Given the description of an element on the screen output the (x, y) to click on. 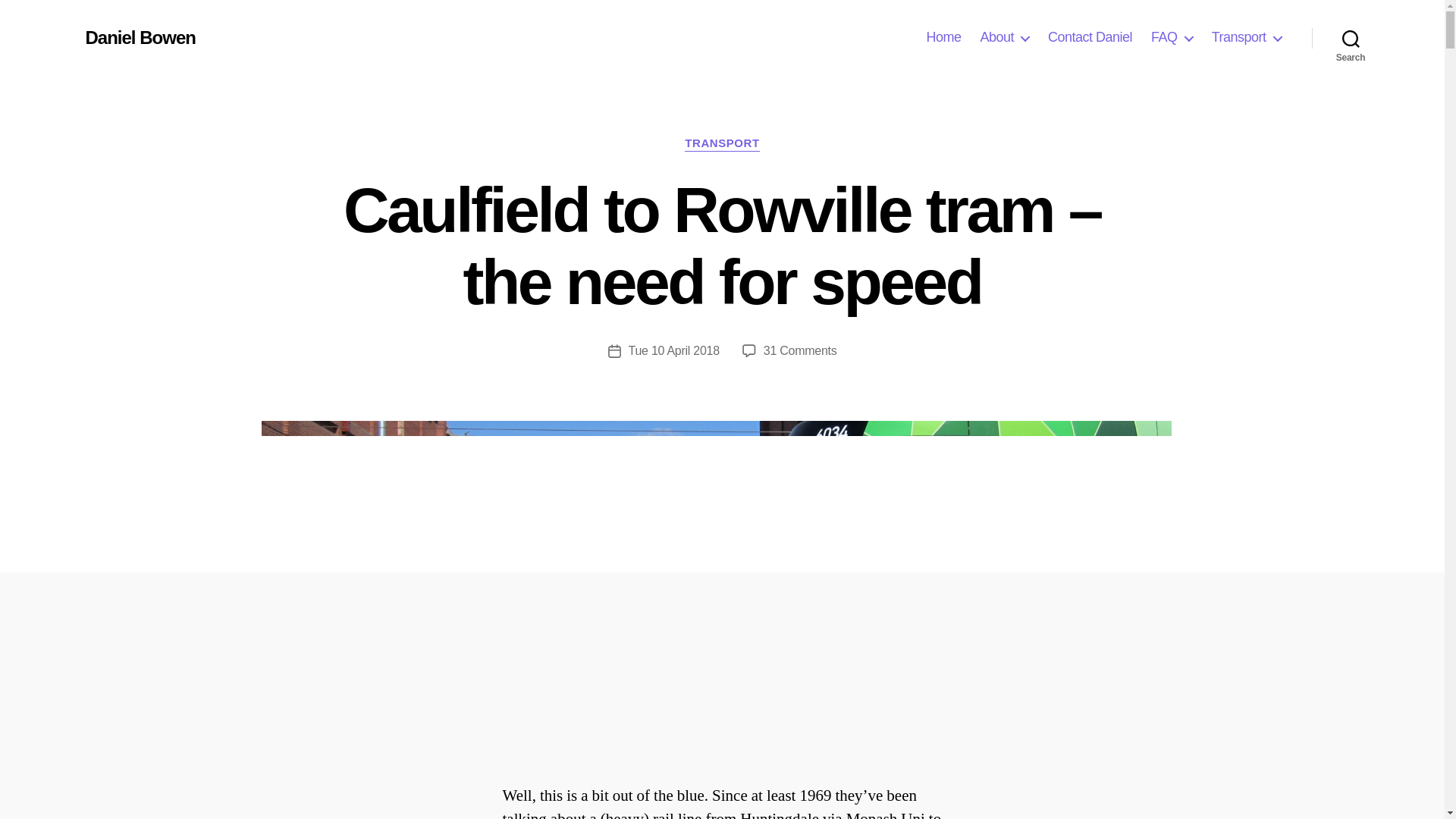
Home (943, 37)
Search (1350, 37)
Daniel Bowen (139, 37)
Transport (1246, 37)
TRANSPORT (721, 143)
Tue 10 April 2018 (673, 350)
About (1004, 37)
FAQ (1171, 37)
Contact Daniel (1090, 37)
